Given the description of an element on the screen output the (x, y) to click on. 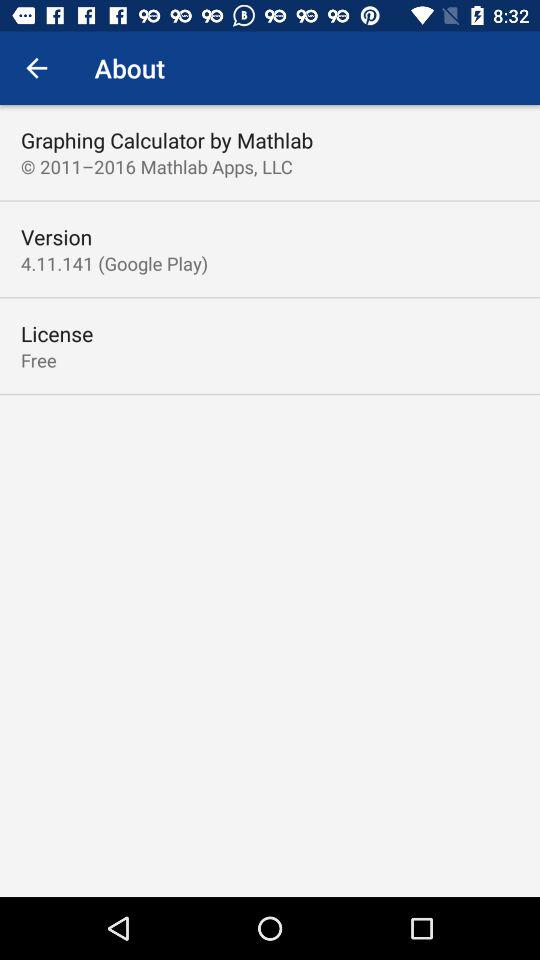
turn off item below the graphing calculator by item (156, 166)
